Given the description of an element on the screen output the (x, y) to click on. 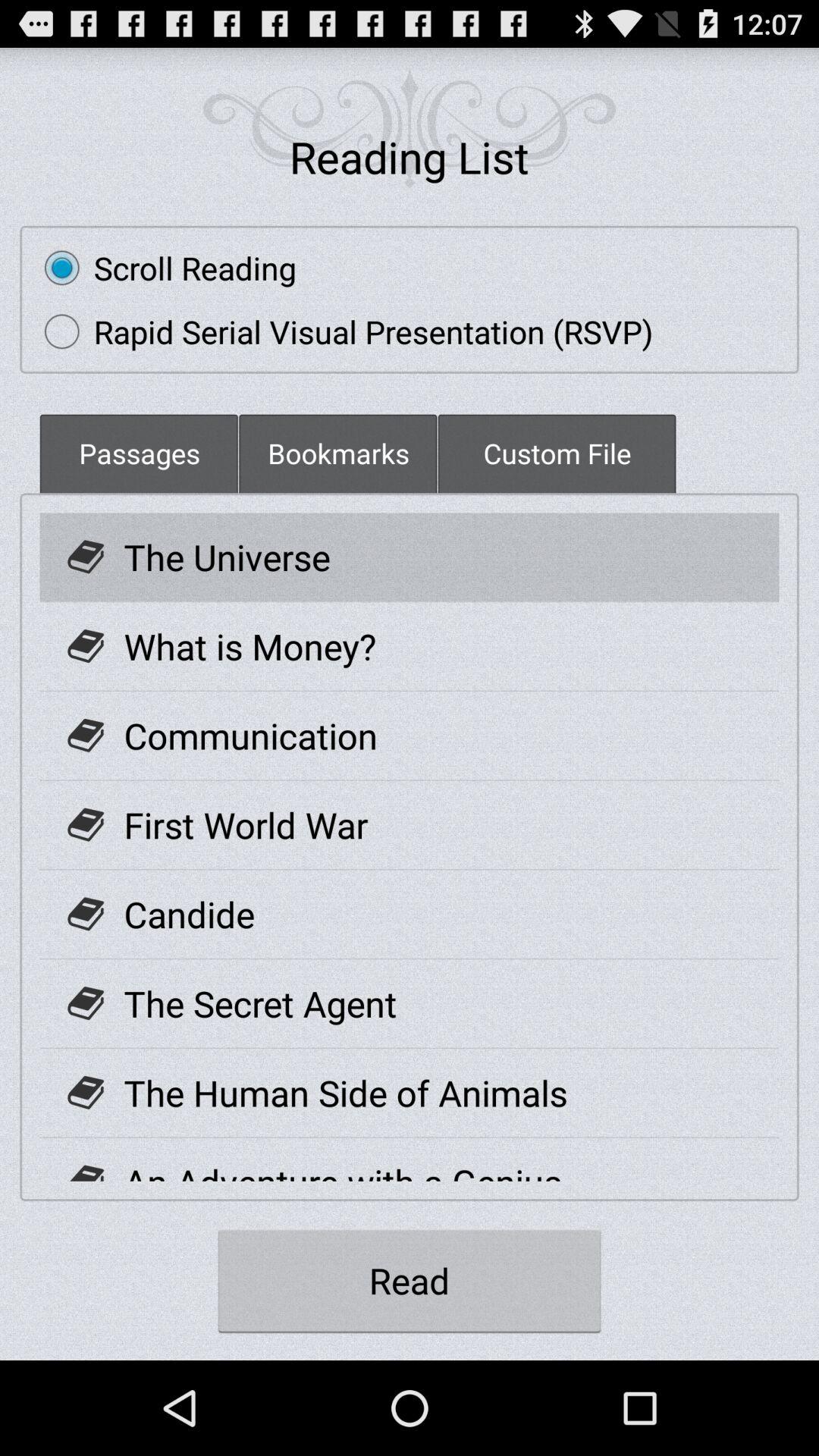
swipe to the read icon (409, 1280)
